Given the description of an element on the screen output the (x, y) to click on. 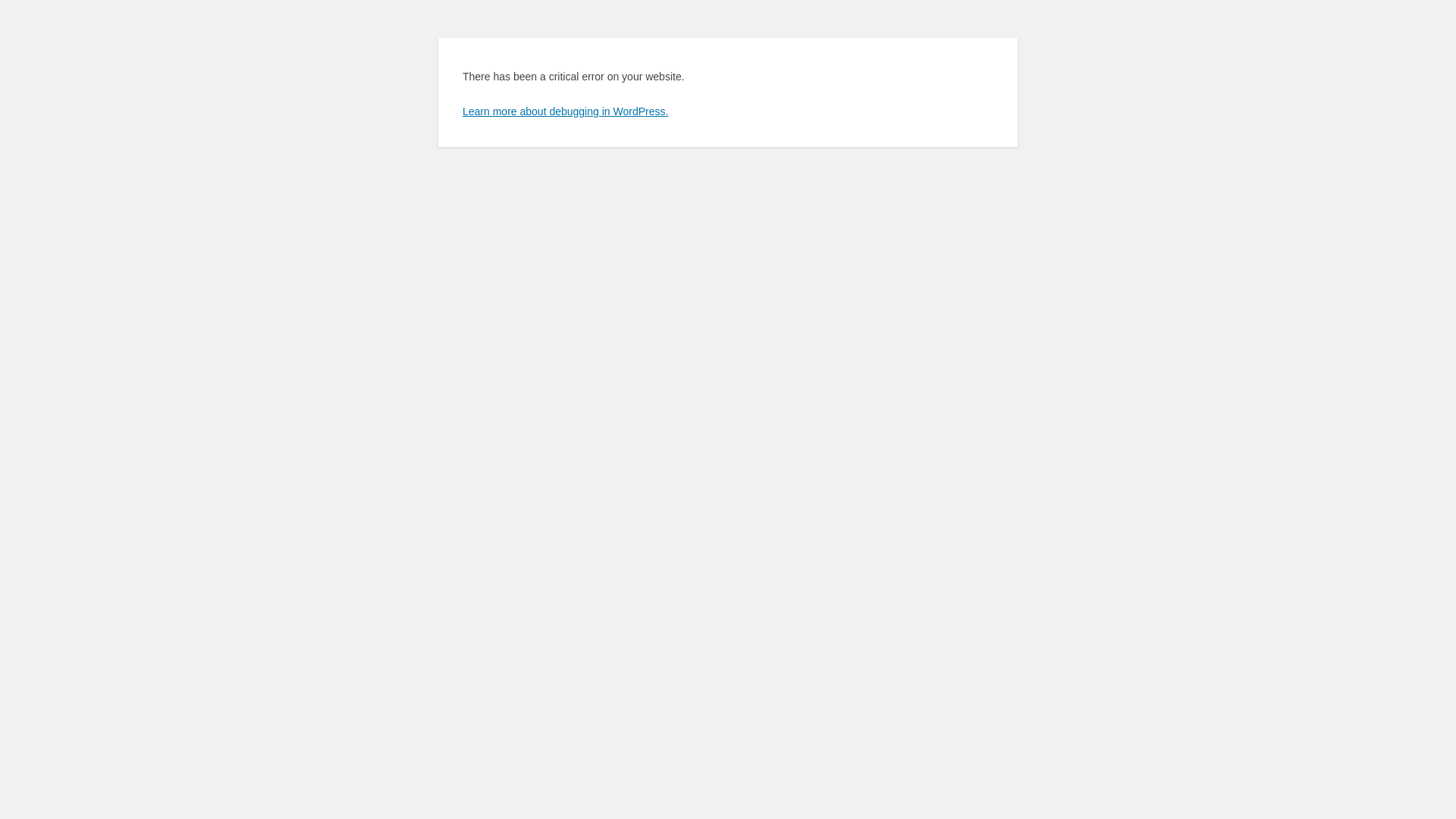
Learn more about debugging in WordPress. Element type: text (565, 111)
